Given the description of an element on the screen output the (x, y) to click on. 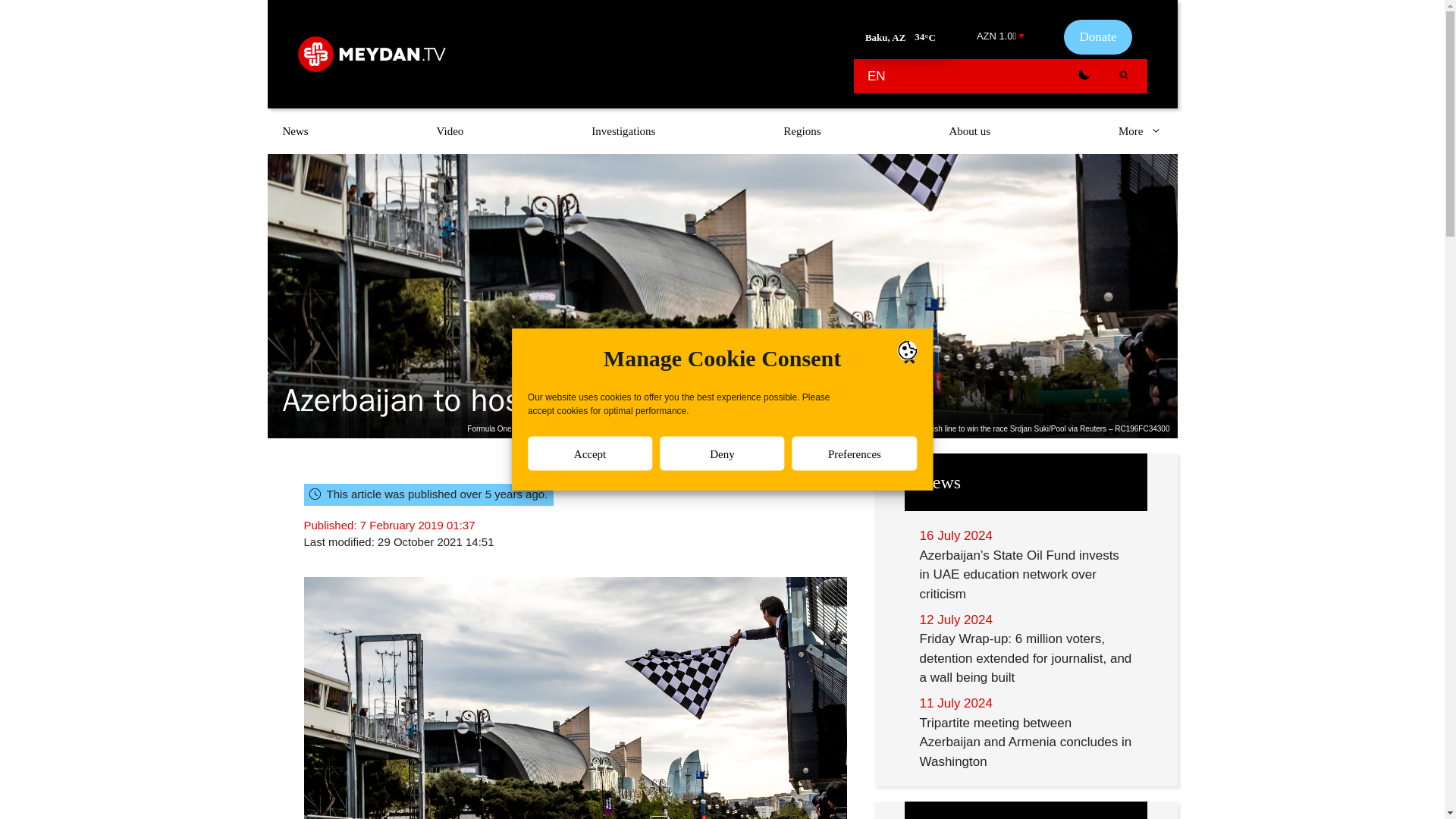
News (294, 130)
Donate (1097, 36)
Deny (721, 743)
EN (876, 75)
Preferences (854, 708)
Video (450, 130)
Accept (589, 761)
